Given the description of an element on the screen output the (x, y) to click on. 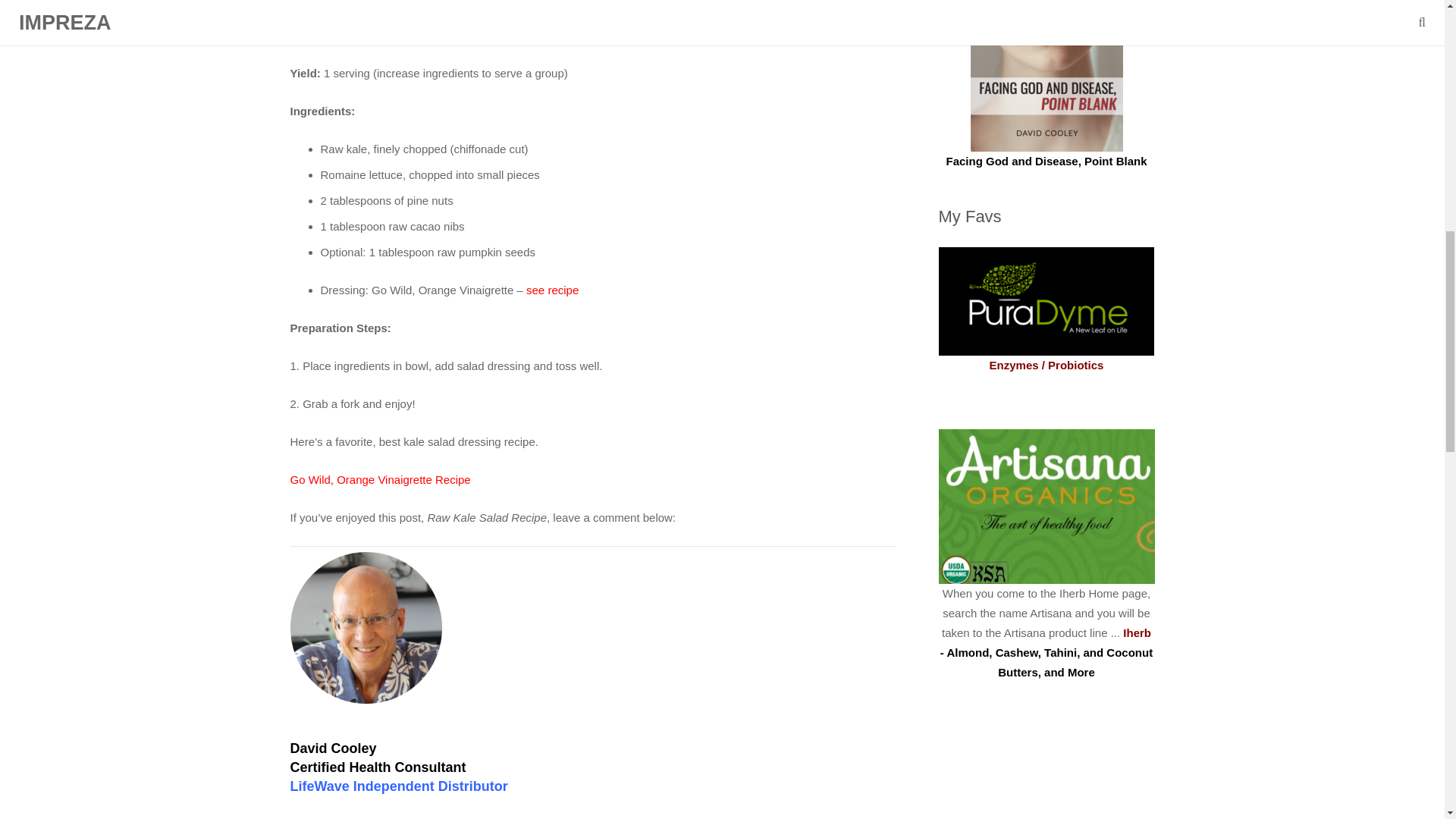
Go Wild, Orange Vinaigrette Recipe (379, 479)
LifeWave Independent Distributor (397, 785)
Facing God and Disease, Point Blank (1045, 160)
Back to top (1413, 22)
see recipe (551, 289)
